Given the description of an element on the screen output the (x, y) to click on. 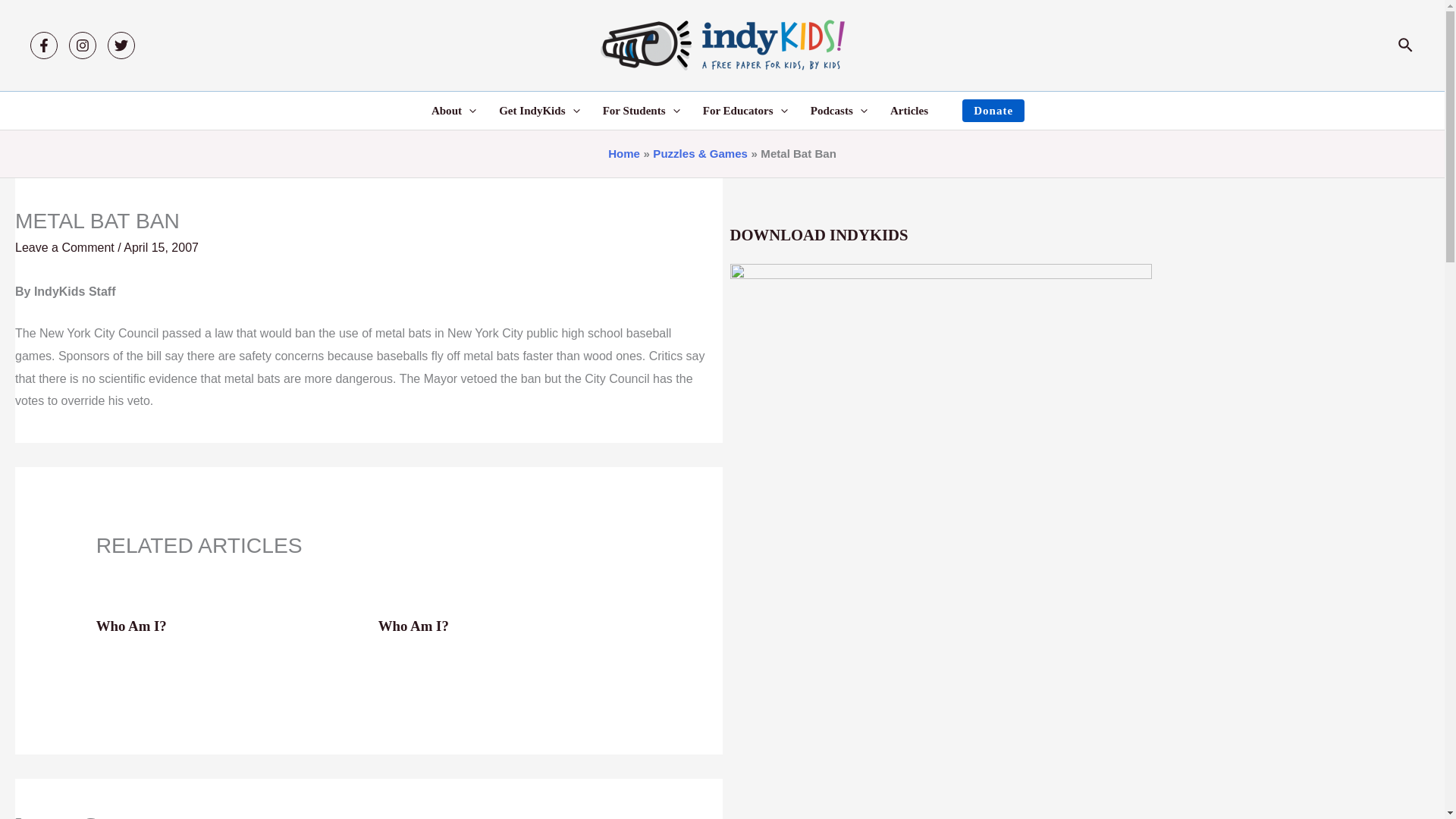
Articles (909, 110)
Home (624, 153)
Get IndyKids (539, 110)
For Educators (745, 110)
About (453, 110)
Podcasts (839, 110)
For Students (641, 110)
Donate (993, 110)
Leave a Comment (64, 246)
Who Am I? (131, 625)
